Given the description of an element on the screen output the (x, y) to click on. 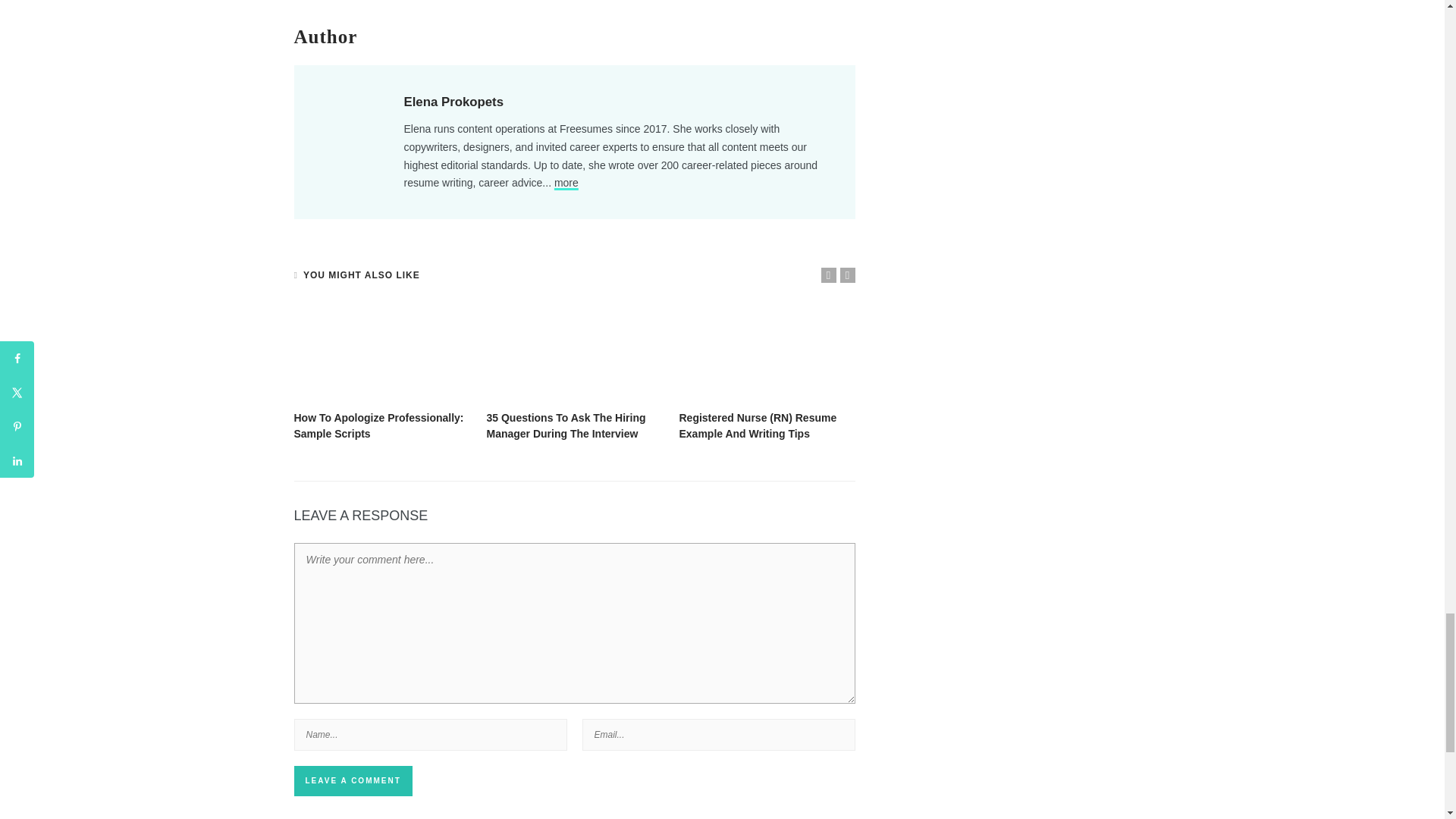
How to Apologize Professionally: Sample Scripts (379, 425)
How to Apologize Professionally: Sample Scripts (382, 352)
35 Questions to Ask the Hiring Manager During the Interview (574, 352)
35 Questions to Ask the Hiring Manager During the Interview (566, 425)
Leave a comment (353, 780)
